Given the description of an element on the screen output the (x, y) to click on. 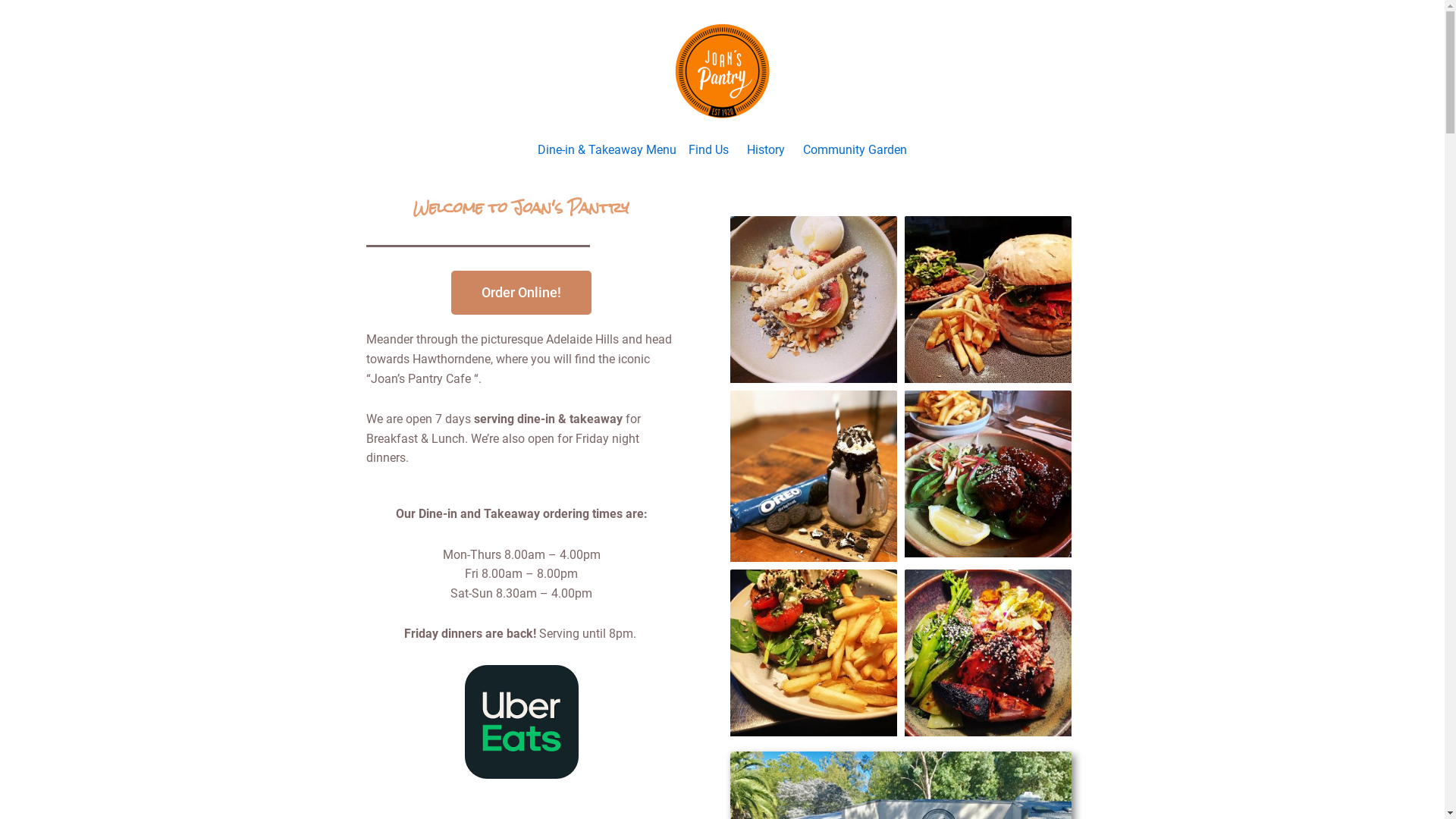
Dine-in & Takeaway Menu Element type: text (606, 149)
History Element type: text (765, 149)
Find Us Element type: text (708, 149)
Order Online! Element type: text (521, 292)
Community Garden Element type: text (854, 149)
